Given the description of an element on the screen output the (x, y) to click on. 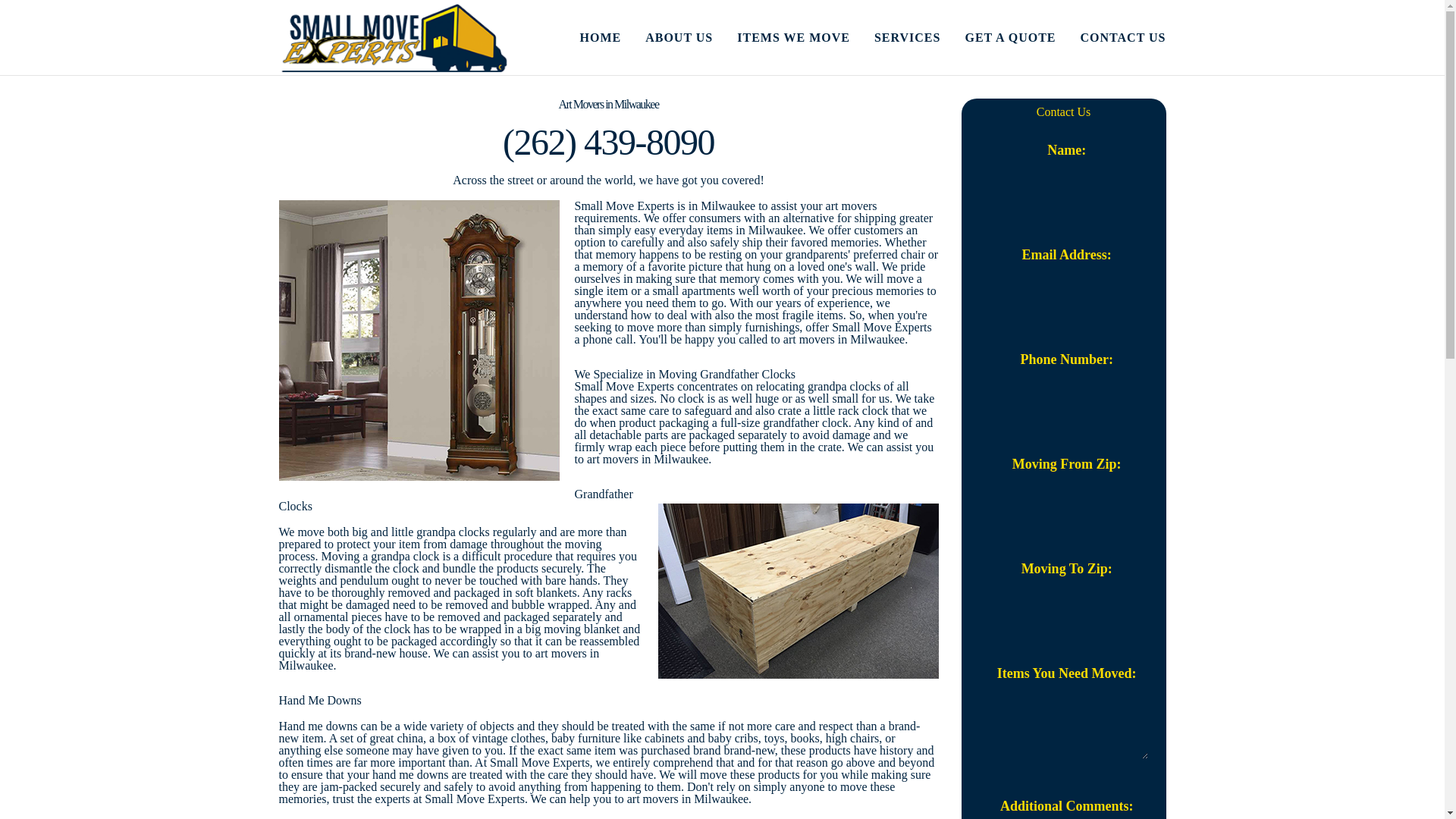
SERVICES (895, 38)
GET A QUOTE (997, 38)
ITEMS WE MOVE (781, 38)
CONTACT US (1111, 38)
ABOUT US (667, 38)
